Given the description of an element on the screen output the (x, y) to click on. 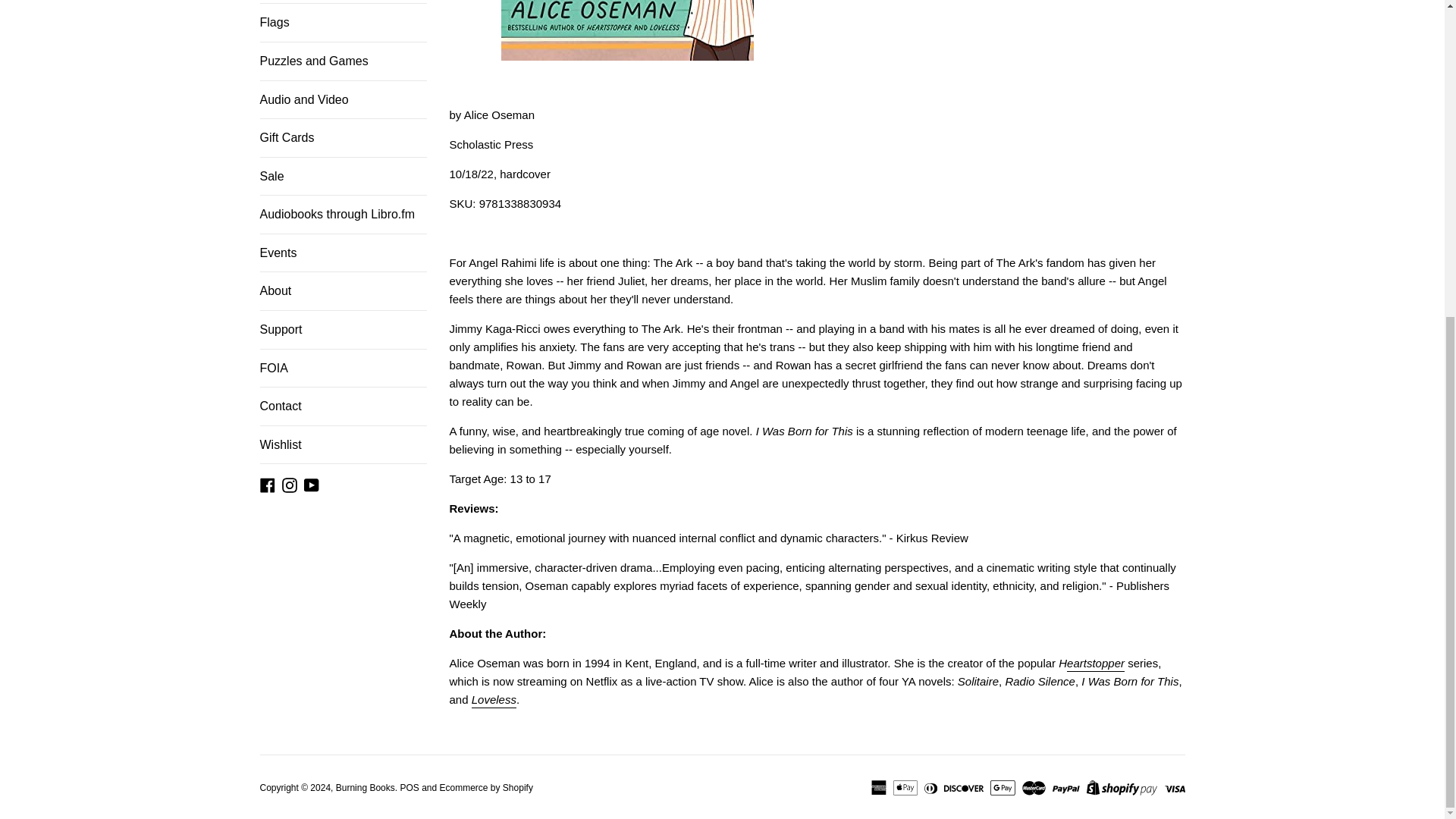
Burning Books on Instagram (289, 483)
Burning Books on YouTube (311, 483)
Burning Books on Facebook (267, 483)
